Given the description of an element on the screen output the (x, y) to click on. 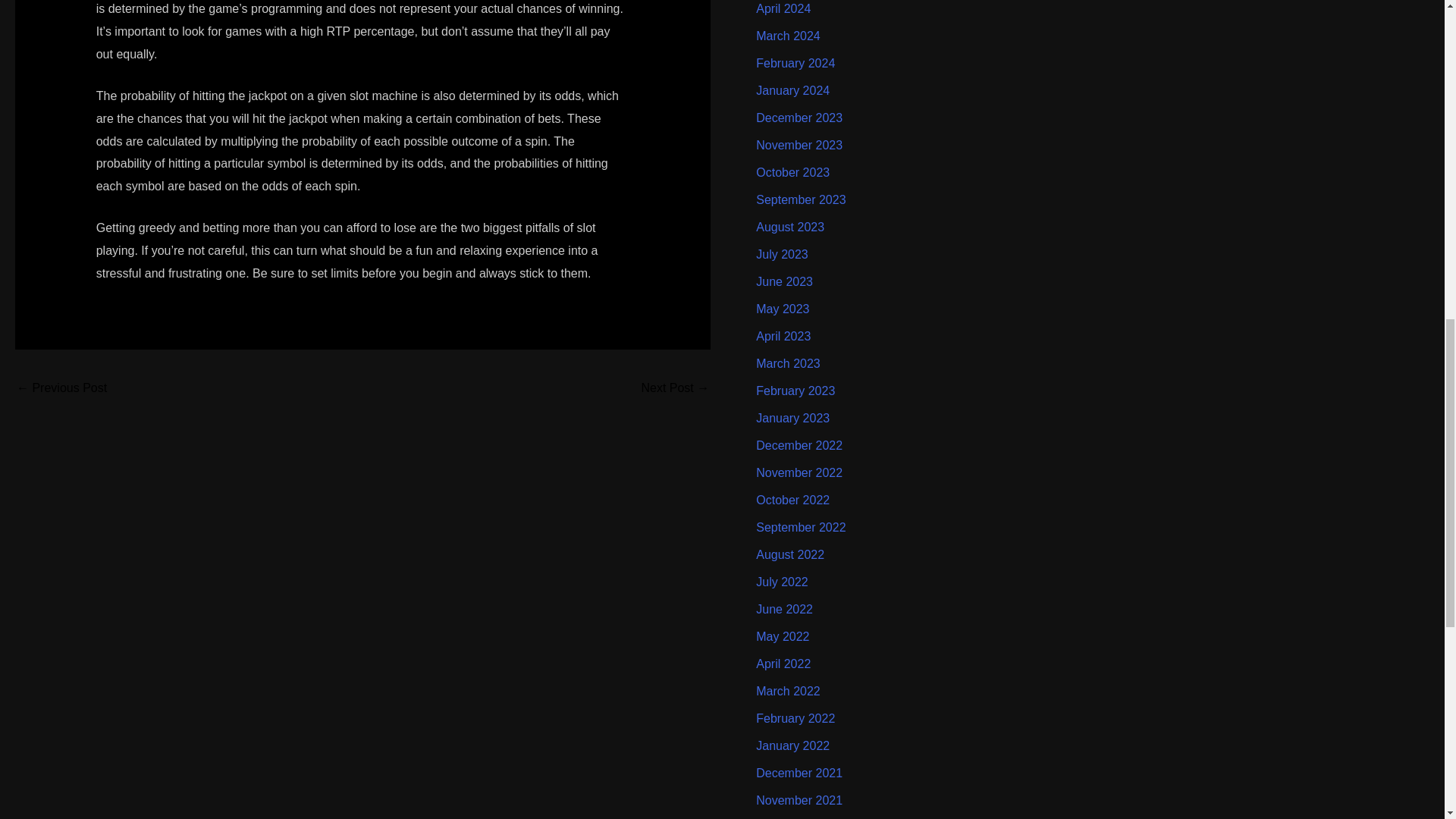
November 2023 (799, 144)
February 2023 (794, 390)
Learning to Play Poker (674, 389)
September 2023 (800, 199)
Understanding a Sportsbook (61, 389)
October 2022 (792, 499)
August 2022 (789, 554)
March 2024 (788, 35)
February 2024 (794, 62)
August 2023 (789, 226)
May 2023 (782, 308)
September 2022 (800, 526)
July 2023 (781, 254)
April 2023 (782, 336)
January 2023 (792, 418)
